Given the description of an element on the screen output the (x, y) to click on. 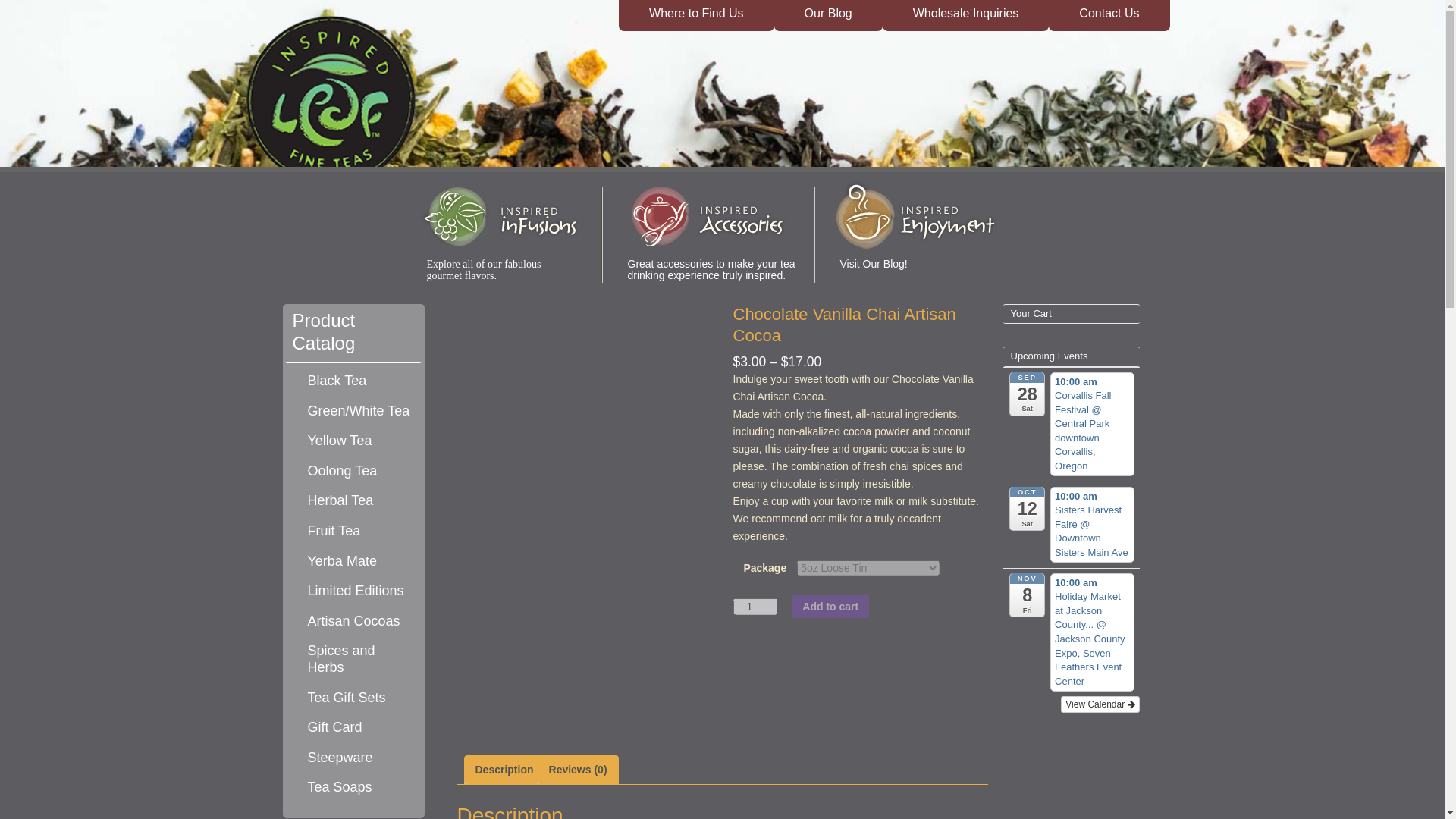
Add to cart (830, 606)
Yerba Mate (360, 561)
Black Tea (360, 381)
View Calendar (1099, 704)
Fruit Tea (360, 531)
Artisan Cocoas (360, 621)
Yellow Tea (360, 441)
Limited Editions (360, 590)
Contact Us (1108, 15)
Oolong Tea (360, 471)
